Given the description of an element on the screen output the (x, y) to click on. 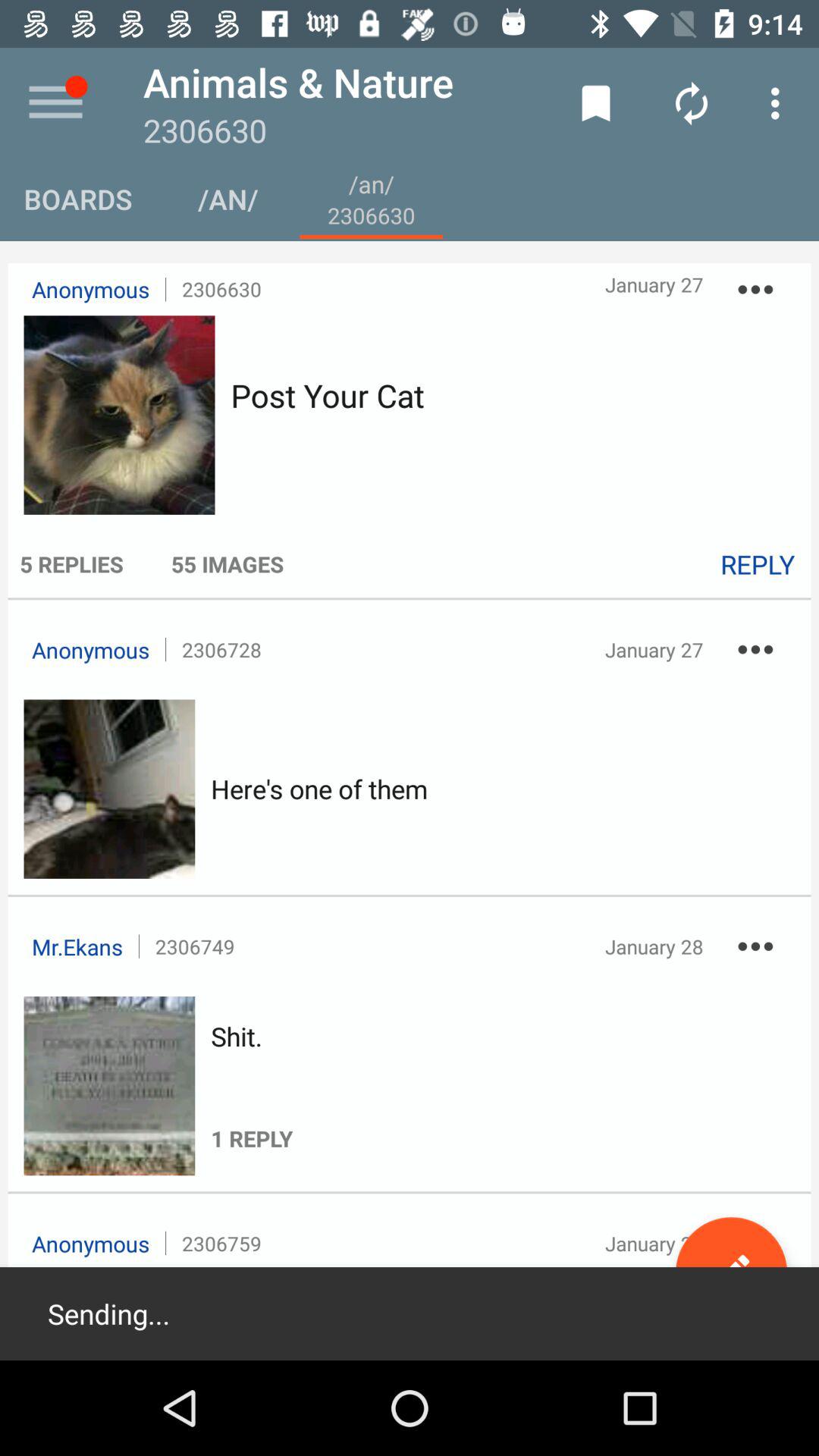
tap the item next to the january 27 icon (755, 289)
